Given the description of an element on the screen output the (x, y) to click on. 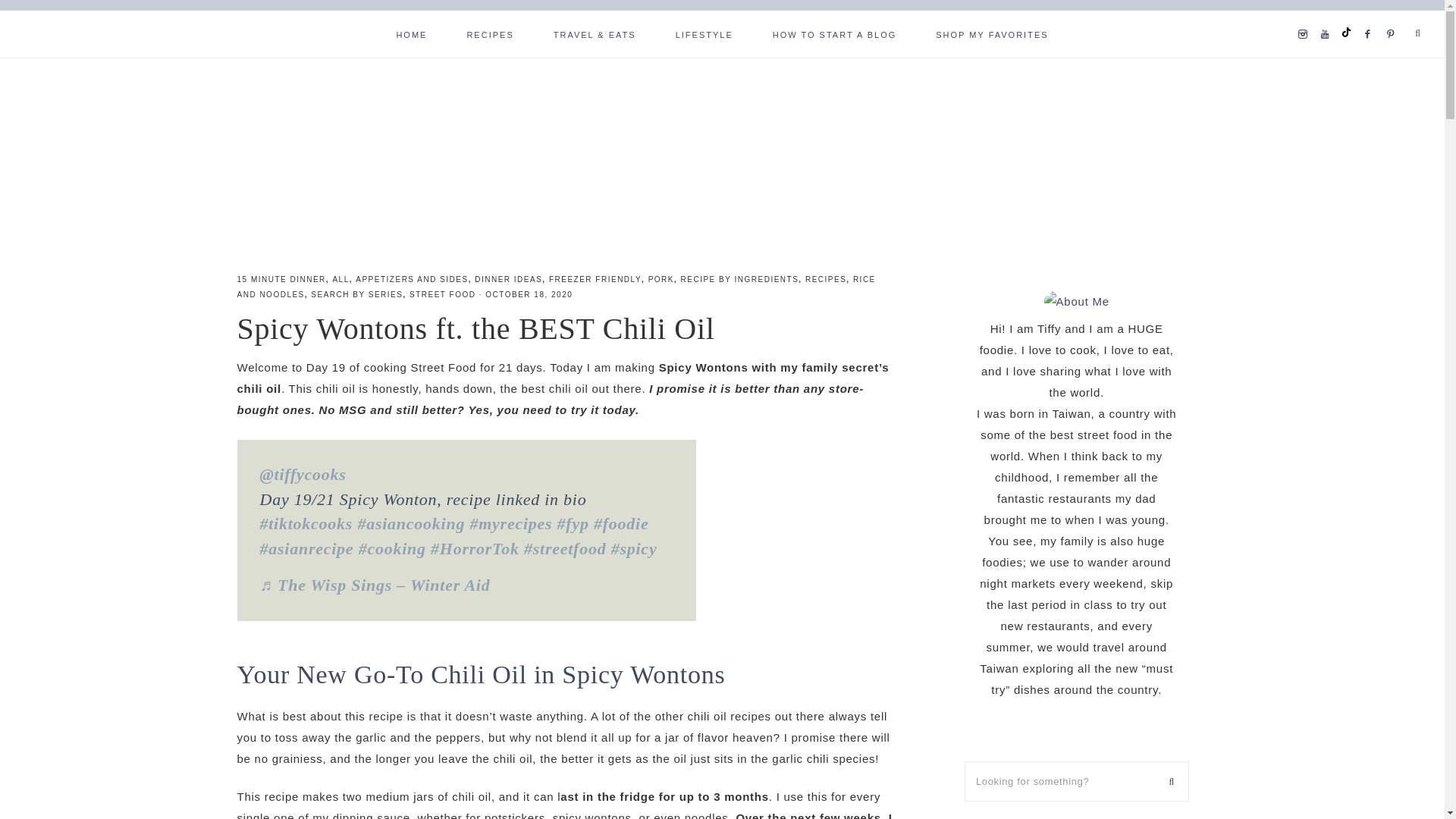
LIFESTYLE (704, 33)
HOW TO START A BLOG (834, 33)
asiancooking (410, 523)
asianrecipe (306, 547)
foodie (620, 523)
tiktokcooks (305, 523)
HOME (410, 33)
Youtube (1328, 14)
Facebook (1370, 14)
streetfood (564, 547)
